Given the description of an element on the screen output the (x, y) to click on. 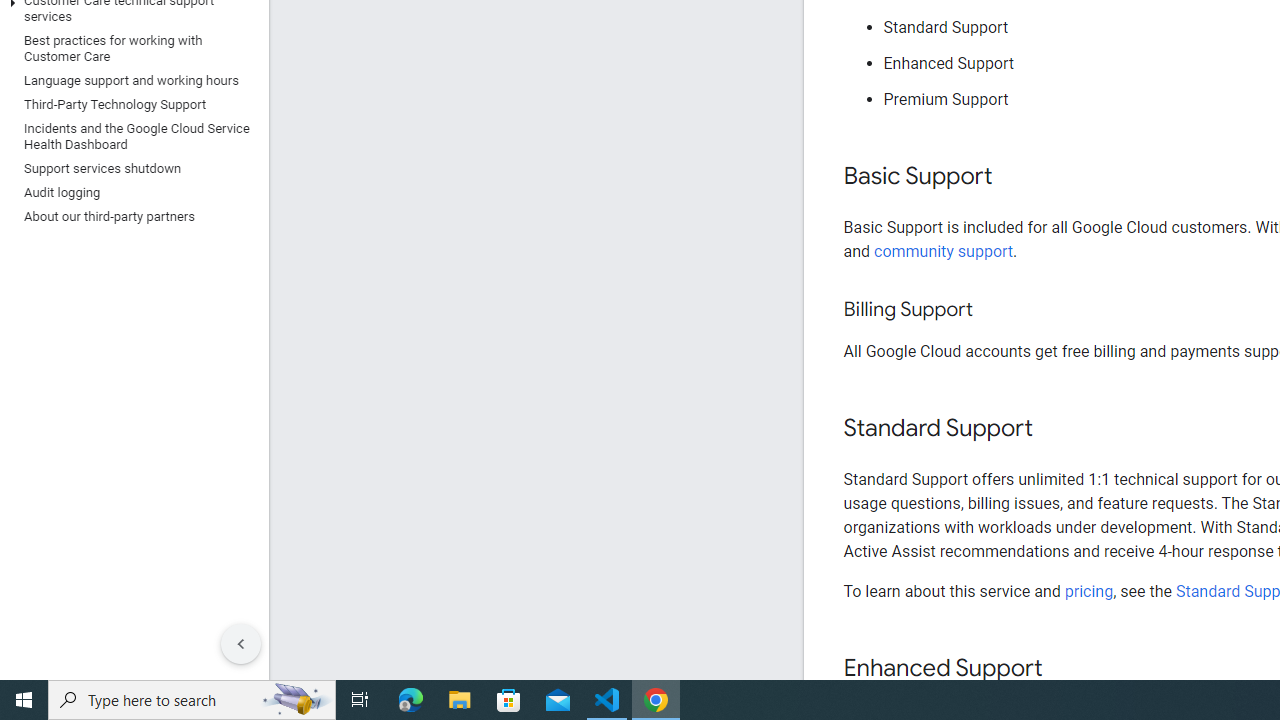
Copy link to this section: Basic Support (1012, 177)
Hide side navigation (241, 643)
Copy link to this section: Billing Support (991, 310)
pricing (1088, 591)
About our third-party partners (130, 216)
Incidents and the Google Cloud Service Health Dashboard (130, 136)
Language support and working hours (130, 80)
Copy link to this section: Standard Support (1052, 429)
Support services shutdown (130, 168)
Copy link to this section: Enhanced Support (1061, 668)
community support (943, 250)
Audit logging (130, 192)
Third-Party Technology Support (130, 104)
Best practices for working with Customer Care (130, 48)
